Given the description of an element on the screen output the (x, y) to click on. 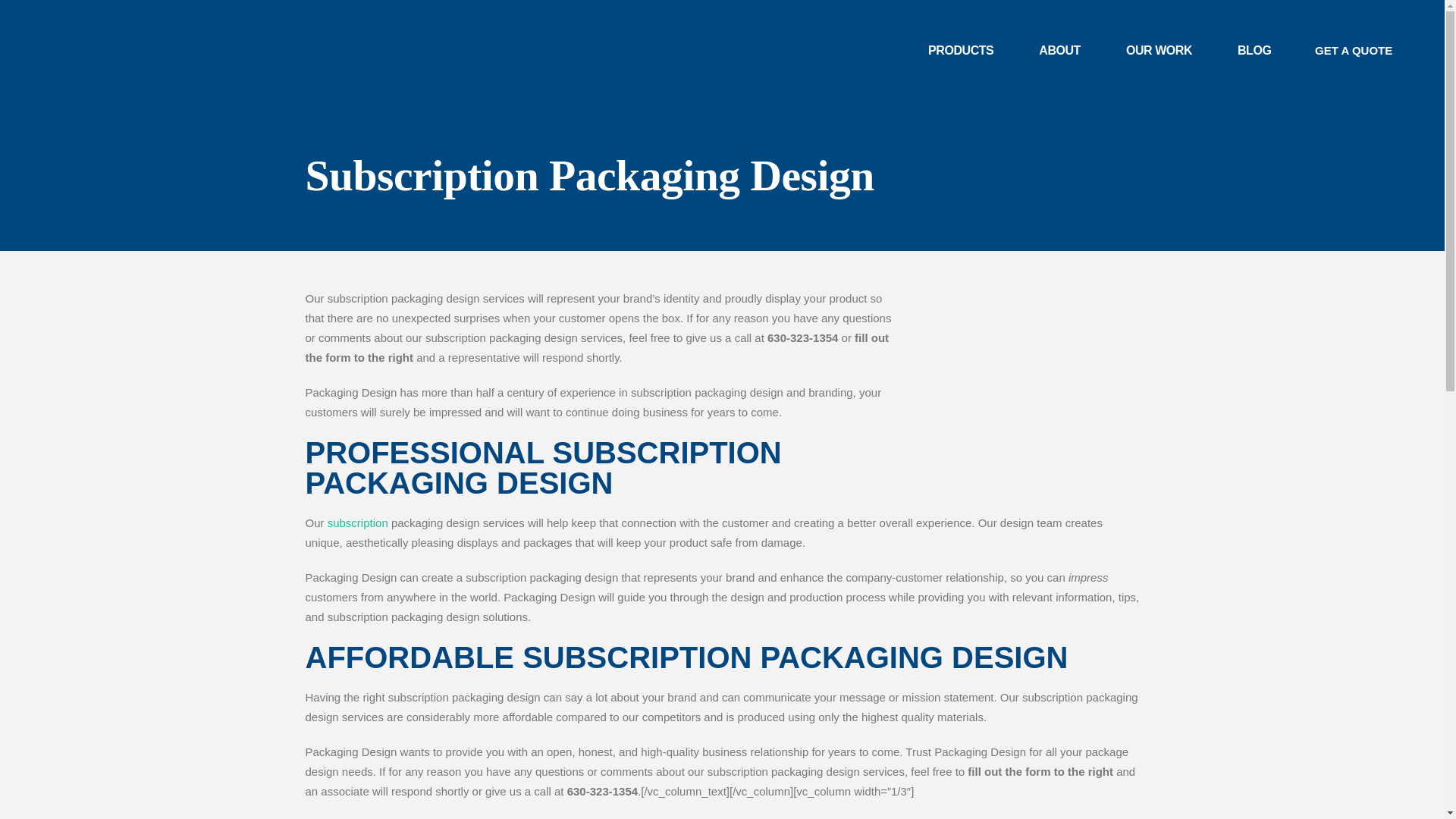
ABOUT (1058, 50)
pack-design-2xretina (134, 50)
OUR WORK (1158, 50)
subscription (357, 522)
GET A QUOTE (1353, 50)
Custom Branded Packaging and Design (960, 50)
Subscription Packaging Design (1024, 395)
PRODUCTS (960, 50)
BLOG (1254, 50)
